Given the description of an element on the screen output the (x, y) to click on. 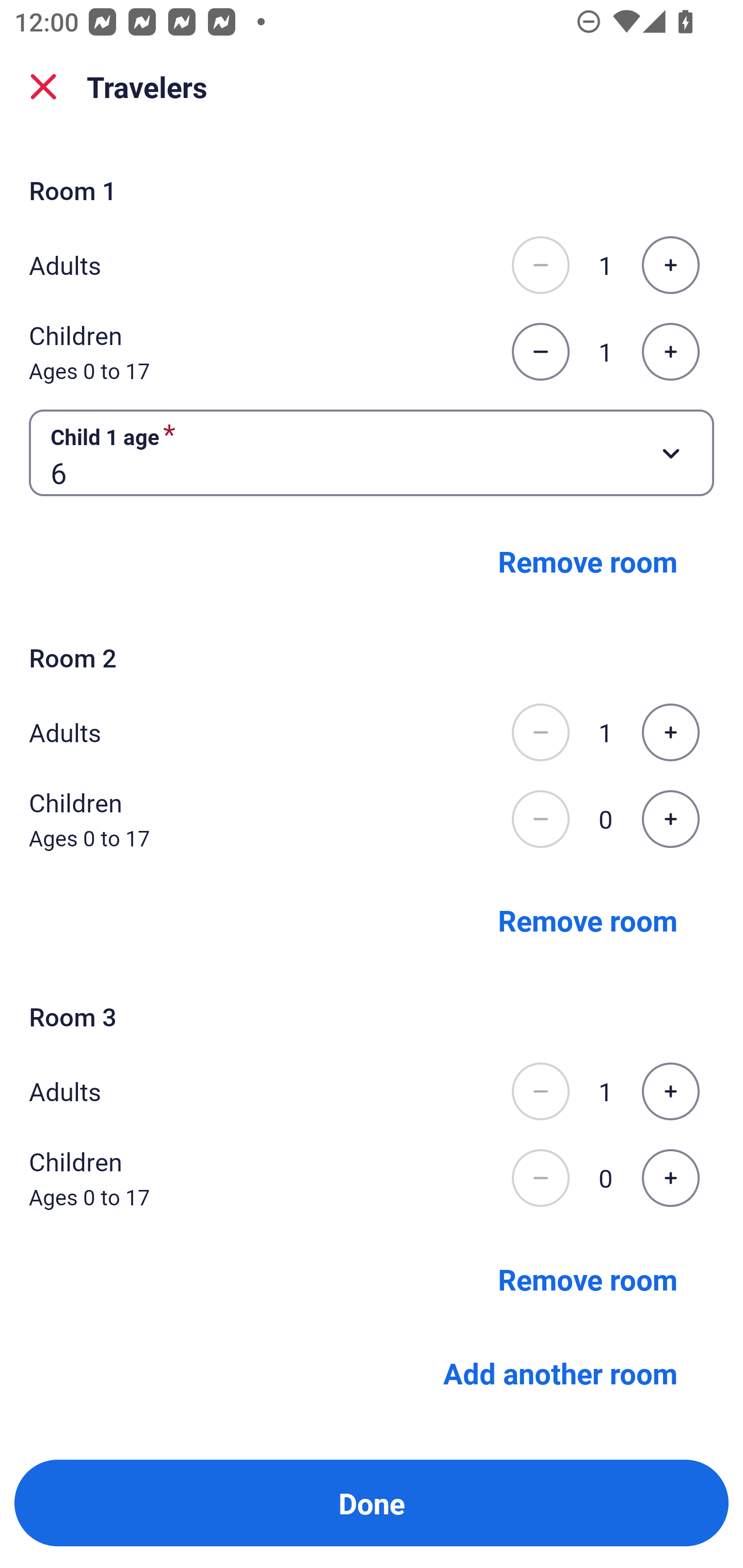
close (43, 86)
Decrease the number of adults (540, 264)
Increase the number of adults (670, 264)
Decrease the number of children (540, 351)
Increase the number of children (670, 351)
Child 1 age required Button 6 (371, 452)
Remove room (588, 561)
Decrease the number of adults (540, 732)
Increase the number of adults (670, 732)
Decrease the number of children (540, 819)
Increase the number of children (670, 819)
Remove room (588, 919)
Decrease the number of adults (540, 1091)
Increase the number of adults (670, 1091)
Decrease the number of children (540, 1178)
Increase the number of children (670, 1178)
Remove room (588, 1278)
Add another room (560, 1372)
Done (371, 1502)
